Given the description of an element on the screen output the (x, y) to click on. 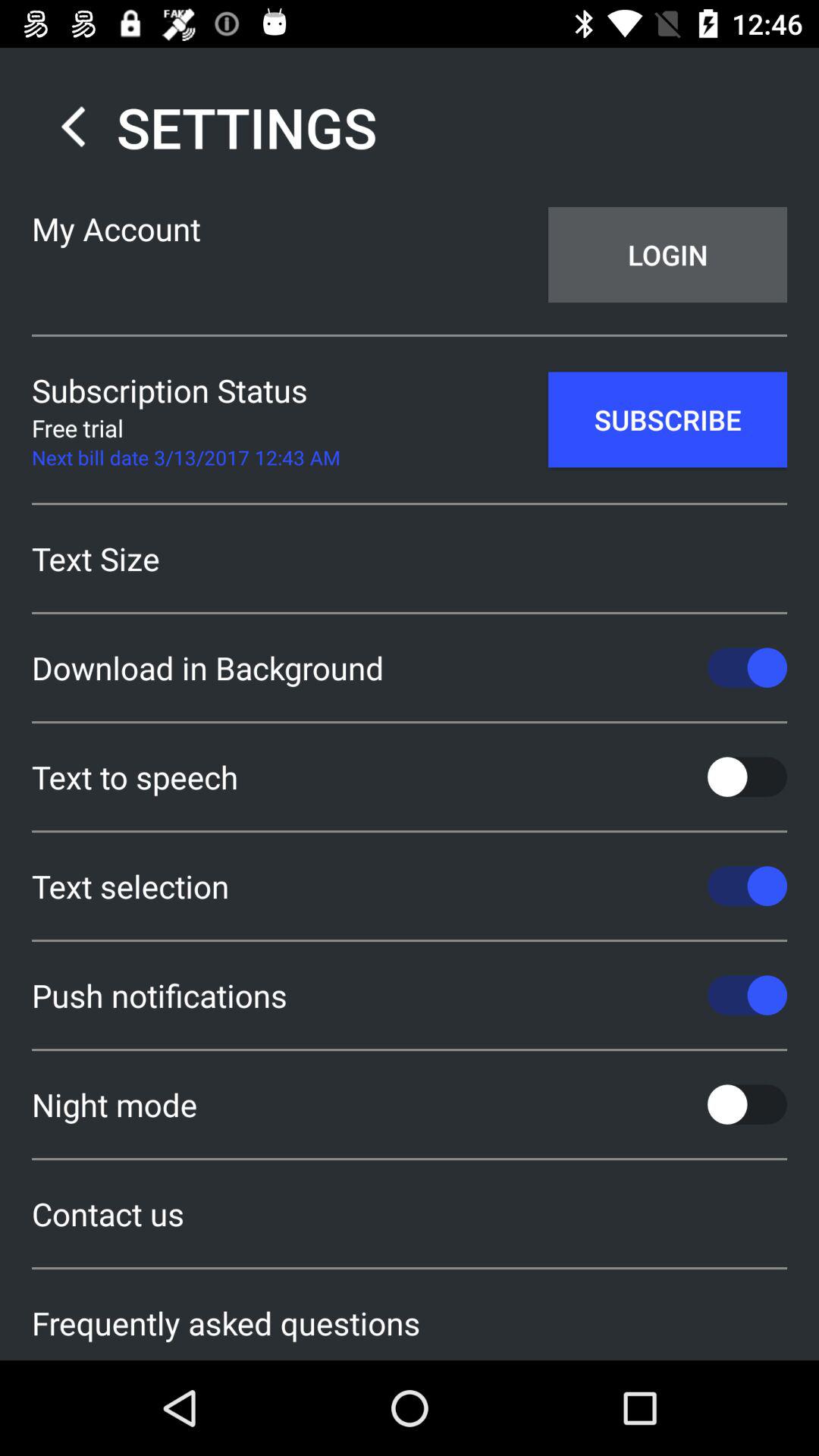
jump to the night mode icon (409, 1104)
